Given the description of an element on the screen output the (x, y) to click on. 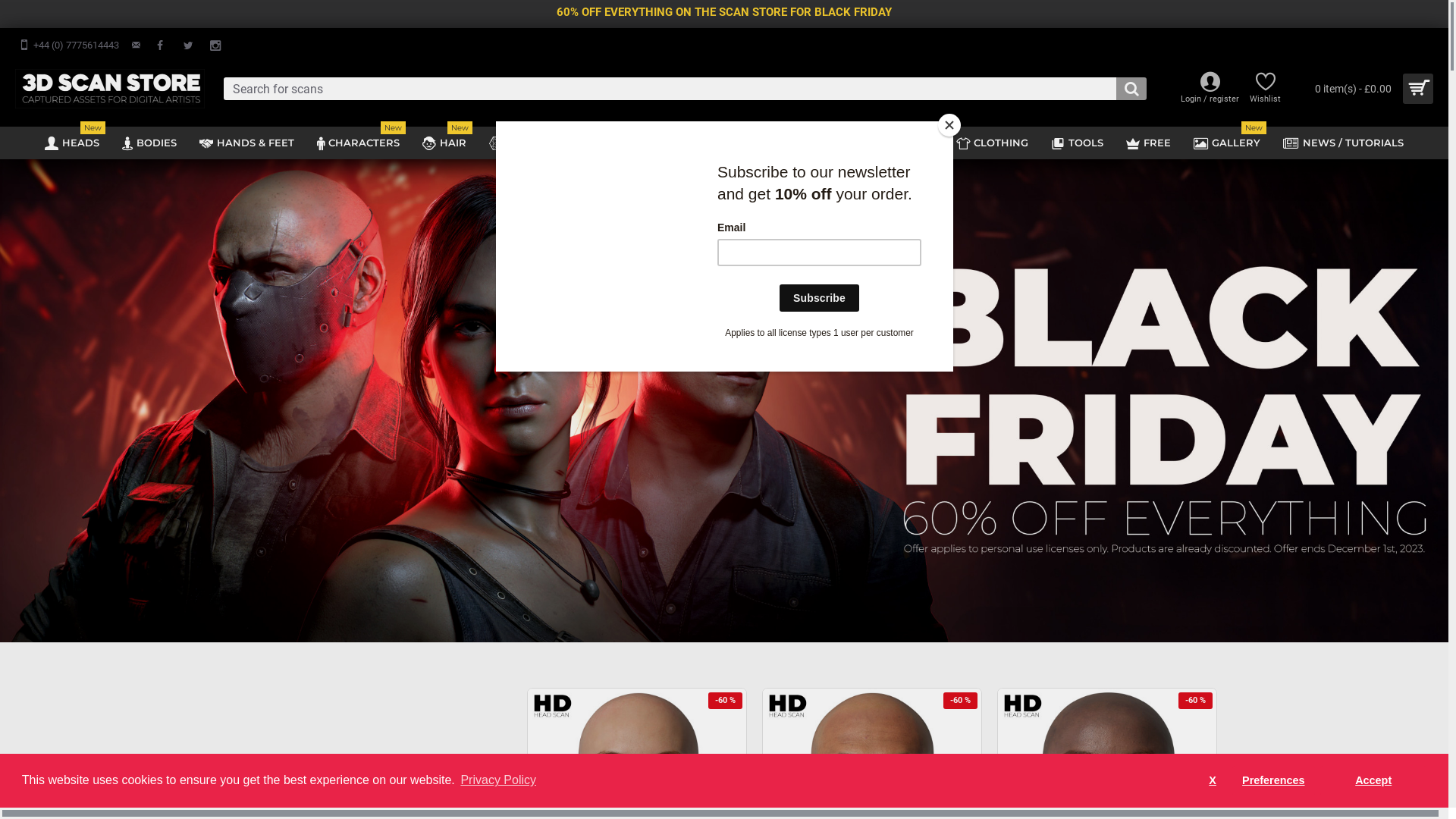
GALLERY
New Element type: text (1226, 142)
X Element type: text (1212, 780)
HEADS
New Element type: text (71, 142)
Preferences Element type: text (1273, 780)
Privacy Policy Element type: text (498, 779)
HAIR
New Element type: text (444, 142)
+44 (0) 7775614443 Element type: text (68, 44)
BASE MESH Element type: text (529, 142)
Login / register Element type: text (1209, 88)
NEWS / TUTORIALS Element type: text (1343, 142)
BODIES Element type: text (149, 142)
Accept Element type: text (1373, 780)
CLOTHING Element type: text (991, 142)
TEXTURE MAPS
New Element type: text (884, 142)
CHARACTERS
New Element type: text (358, 142)
Wishlist Element type: text (1264, 88)
DISPLACEMENT MAPS Element type: text (746, 142)
FREE Element type: text (1148, 142)
HANDS & FEET Element type: text (246, 142)
TOOLS Element type: text (1076, 142)
3D Scan Store Element type: hover (109, 88)
